Given the description of an element on the screen output the (x, y) to click on. 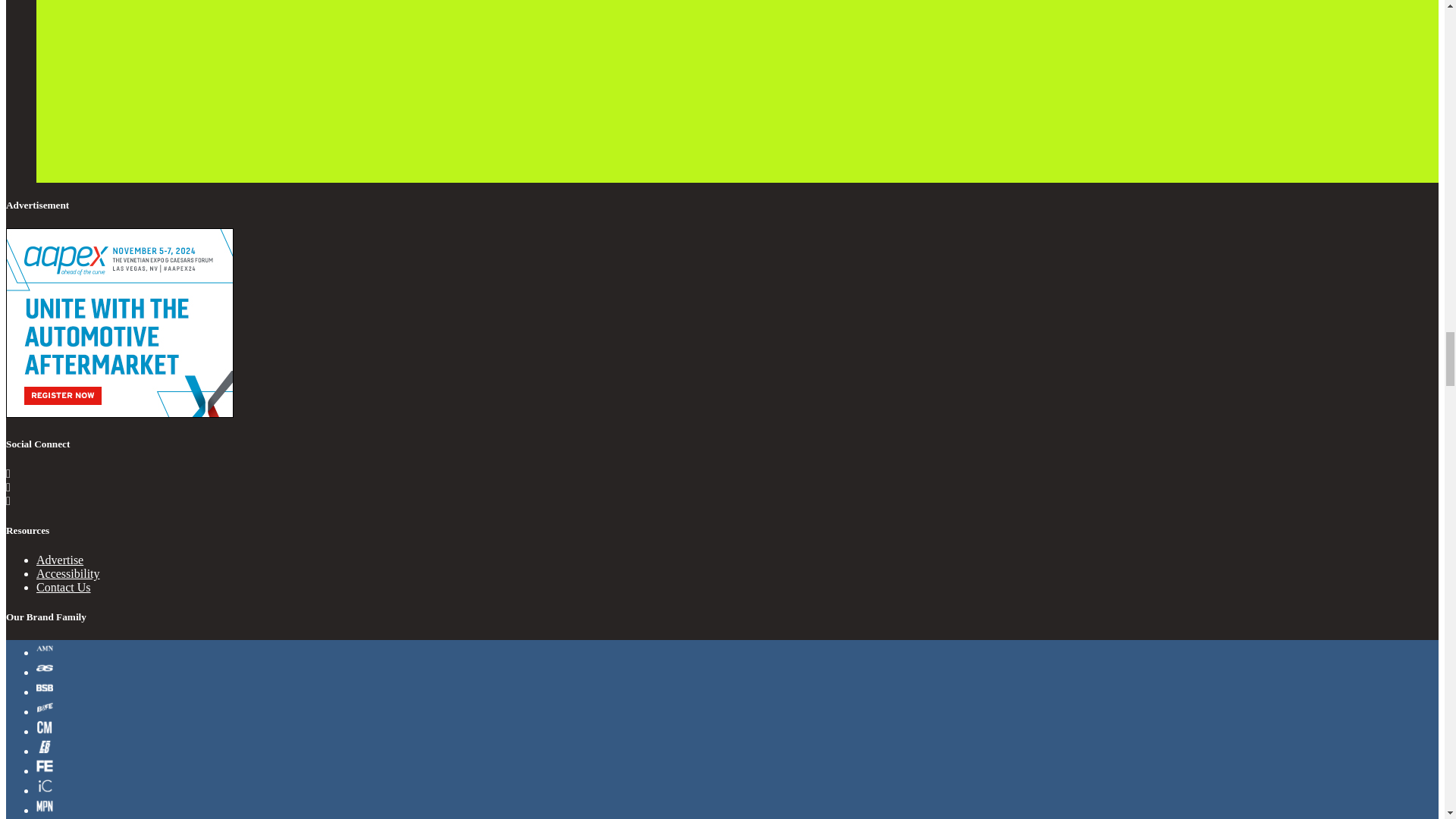
Accessibility (68, 573)
Advertise (59, 559)
Advertise (59, 559)
Contact Us (63, 586)
